Given the description of an element on the screen output the (x, y) to click on. 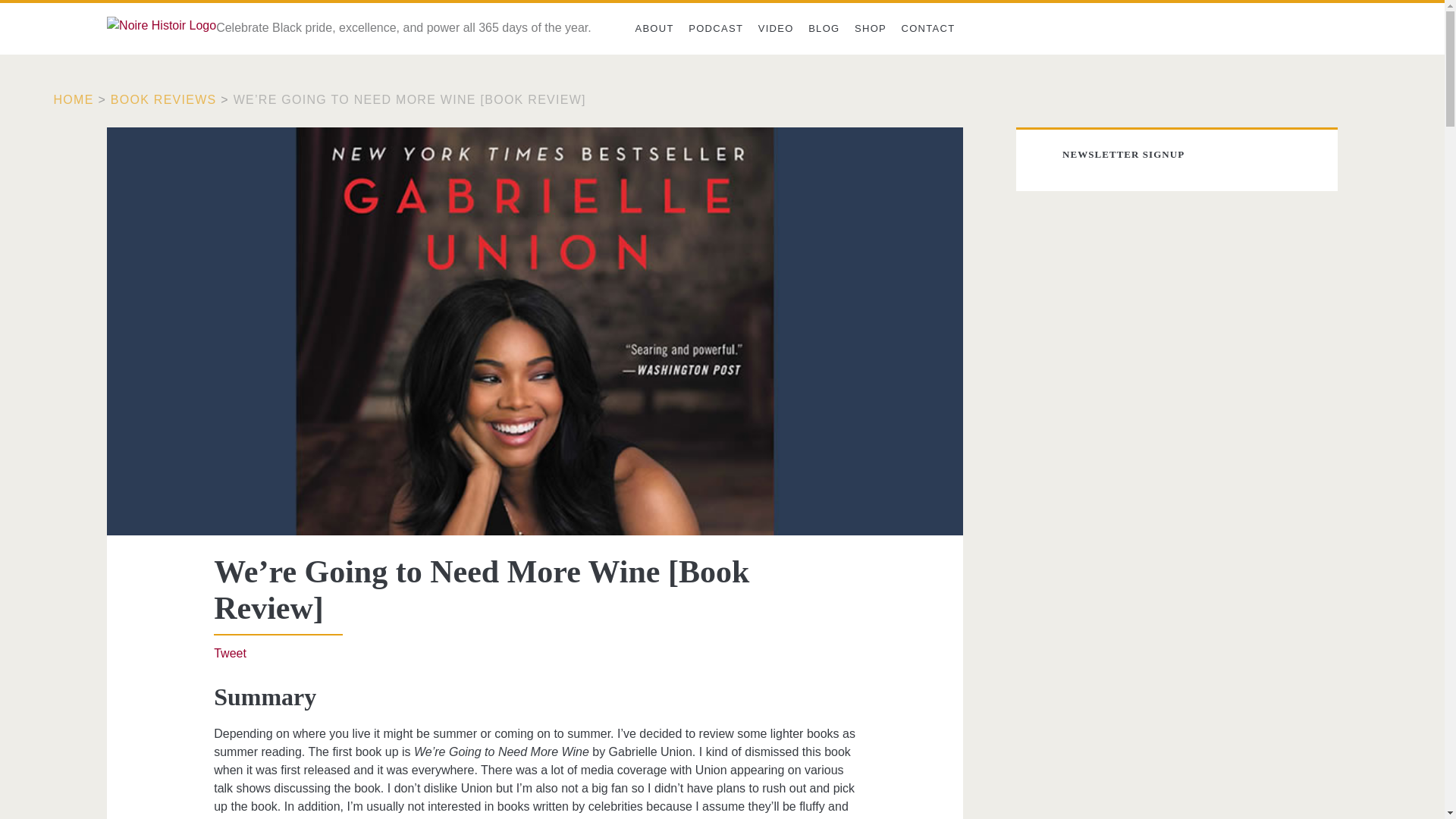
SHOP (870, 28)
BLOG (823, 28)
PODCAST (715, 28)
CONTACT (927, 28)
Tweet (230, 653)
VIDEO (775, 28)
HOME (73, 99)
BOOK REVIEWS (163, 99)
ABOUT (654, 28)
Home (73, 99)
